Given the description of an element on the screen output the (x, y) to click on. 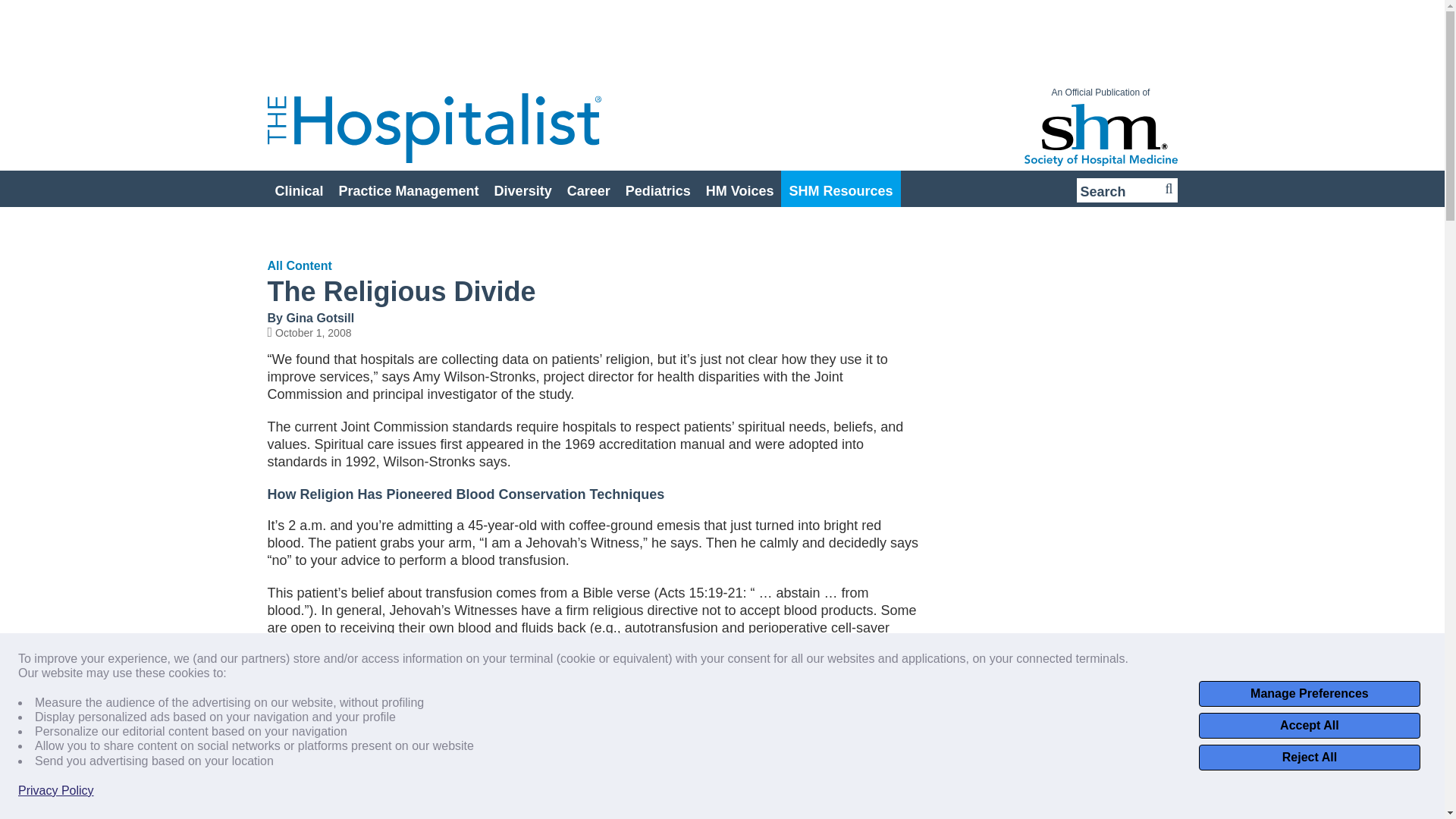
Manage Preferences (1309, 693)
Reject All (1309, 757)
Accept All (1309, 725)
Privacy Policy (55, 789)
